Given the description of an element on the screen output the (x, y) to click on. 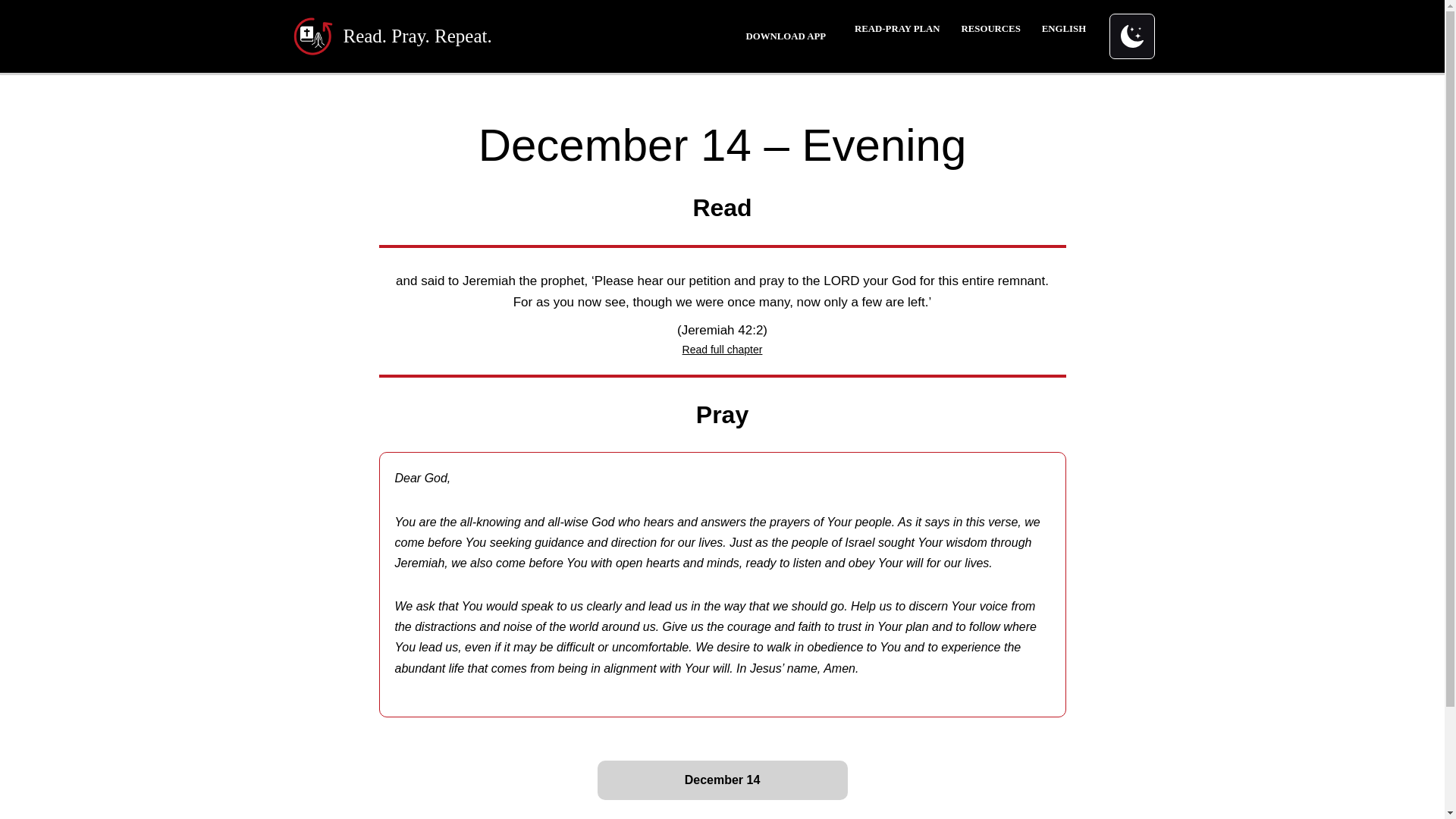
December 14 (721, 780)
RESOURCES (990, 28)
Skip to content (11, 31)
Read full chapter (722, 349)
Read. Pray. Repeat. (390, 35)
DOWNLOAD APP (786, 36)
READ-PRAY PLAN (896, 28)
